Given the description of an element on the screen output the (x, y) to click on. 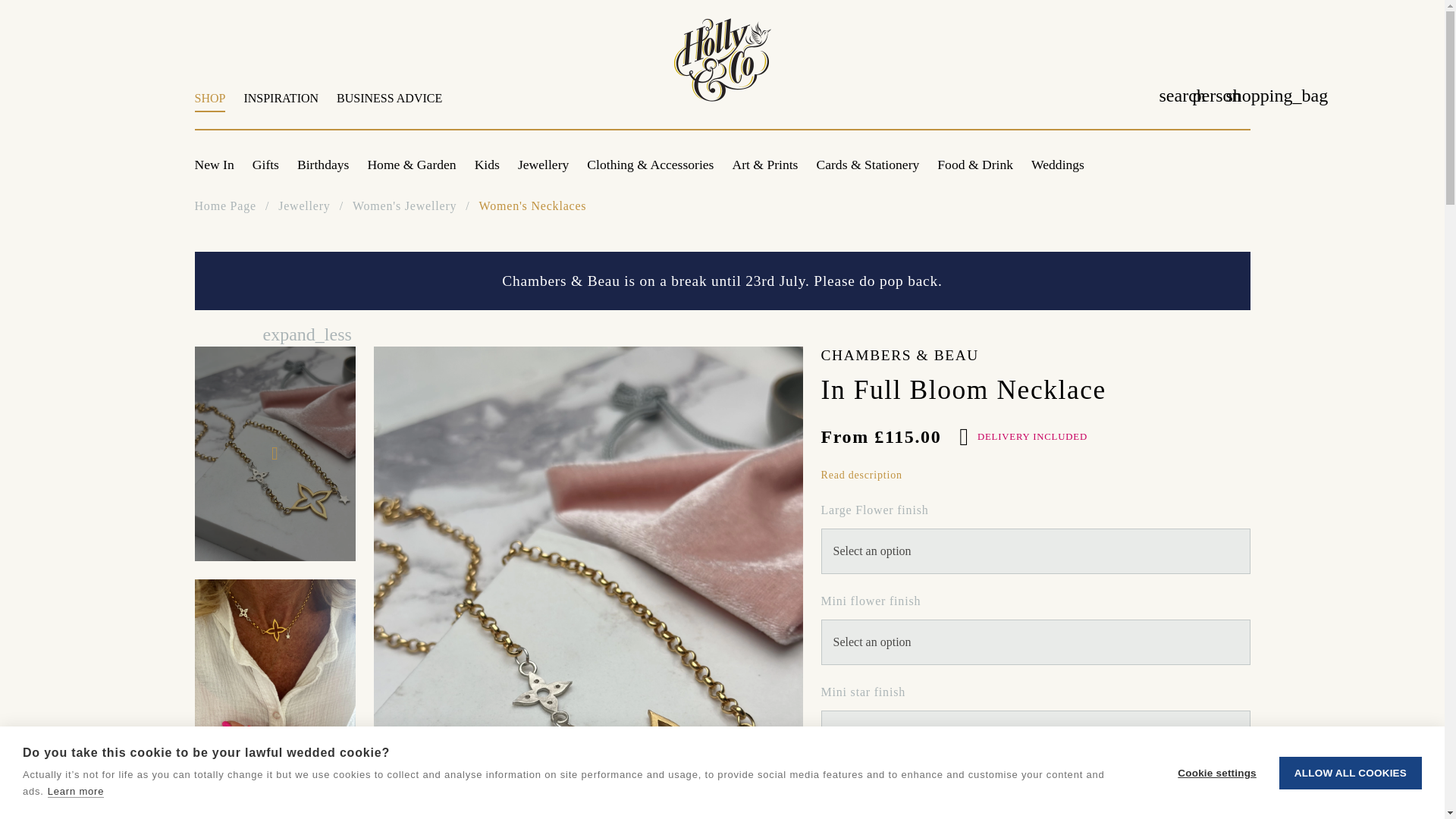
BUSINESS ADVICE (384, 106)
INSPIRATION (589, 105)
